Given the description of an element on the screen output the (x, y) to click on. 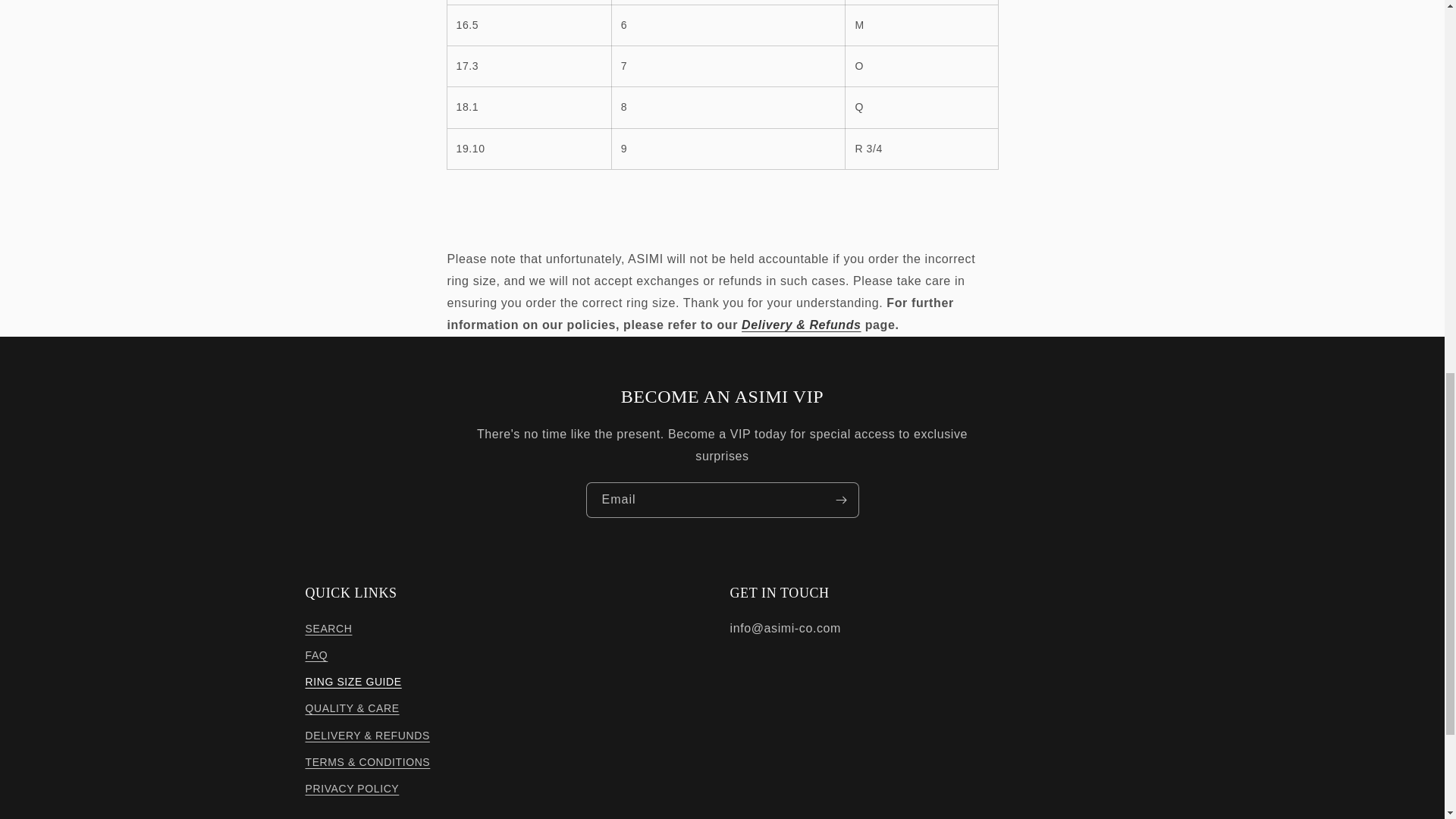
PRIVACY POLICY (351, 788)
RING SIZE GUIDE (352, 682)
FAQ (315, 655)
SEARCH (328, 630)
